Given the description of an element on the screen output the (x, y) to click on. 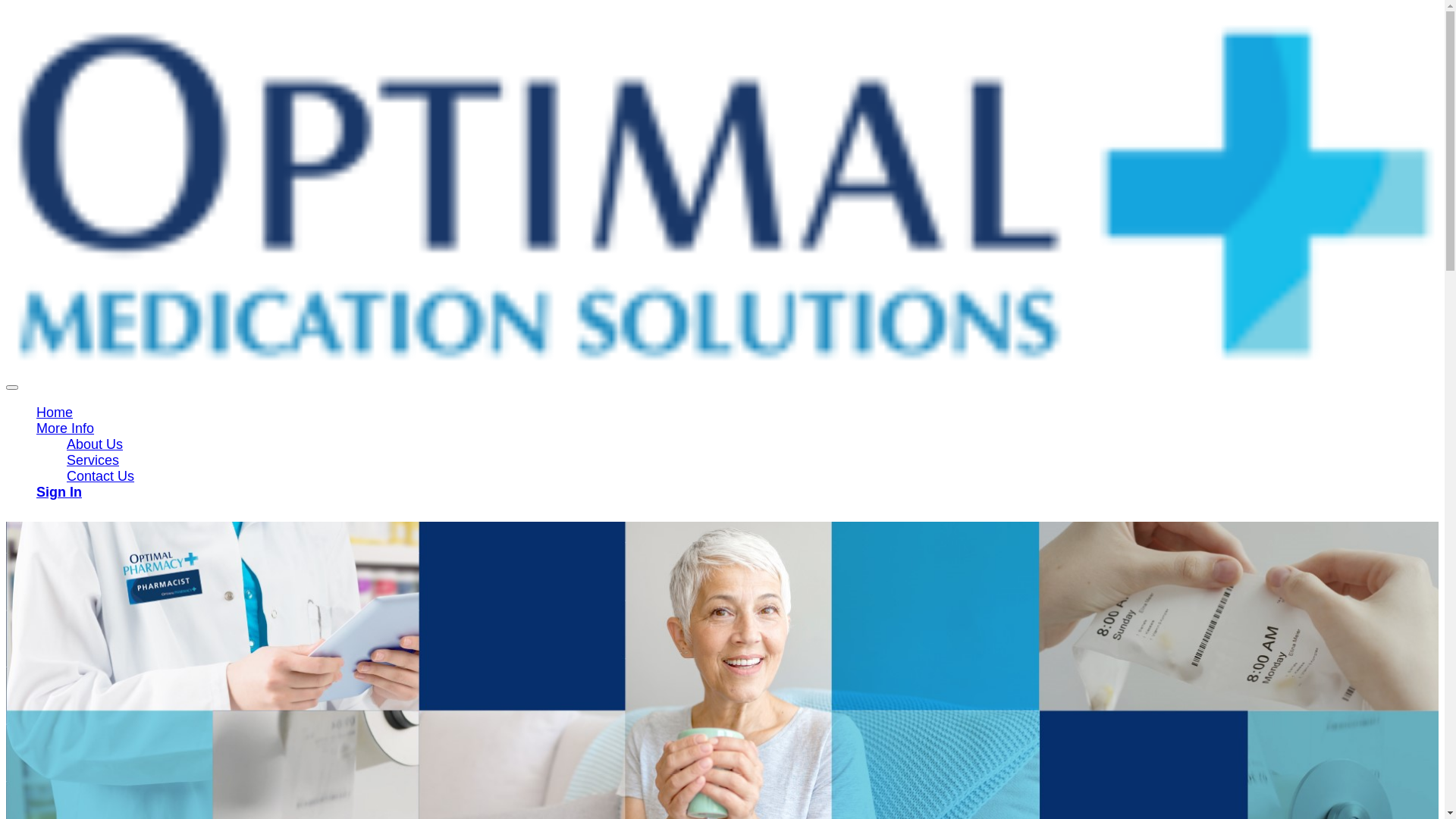
More Info Element type: text (65, 428)
Sign In Element type: text (58, 491)
About Us Element type: text (94, 443)
Home Element type: text (54, 412)
Contact Us Element type: text (100, 475)
Services Element type: text (92, 459)
